Given the description of an element on the screen output the (x, y) to click on. 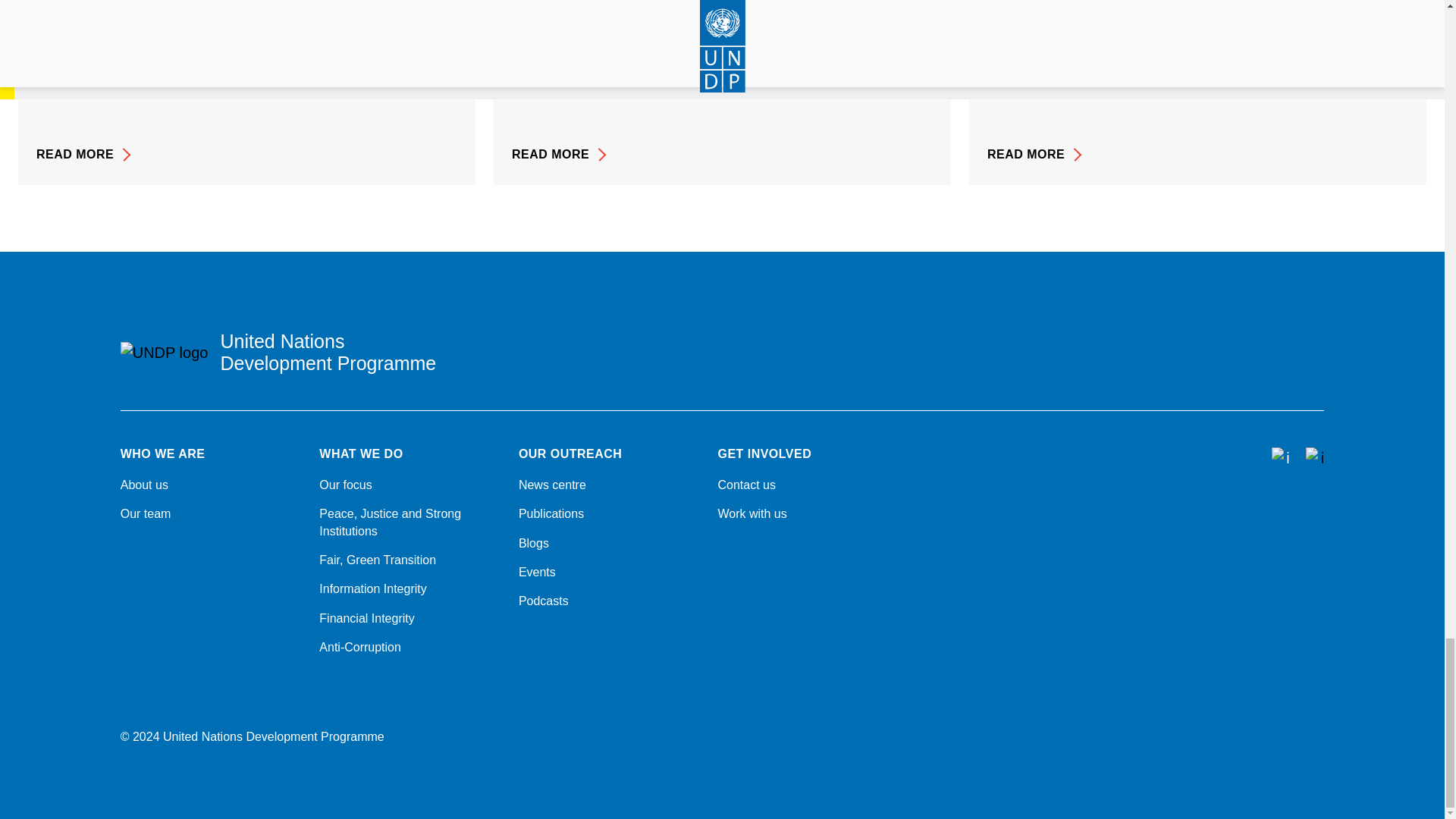
Instagram (1237, 500)
Our focus (409, 484)
Our team (210, 514)
Facebook (1158, 500)
Peace, Justice and Strong Institutions (409, 522)
WHO WE ARE (210, 454)
About us (210, 484)
YouTube (1315, 500)
WHAT WE DO (409, 454)
Linkedin (1276, 500)
Twitter (1198, 500)
